Given the description of an element on the screen output the (x, y) to click on. 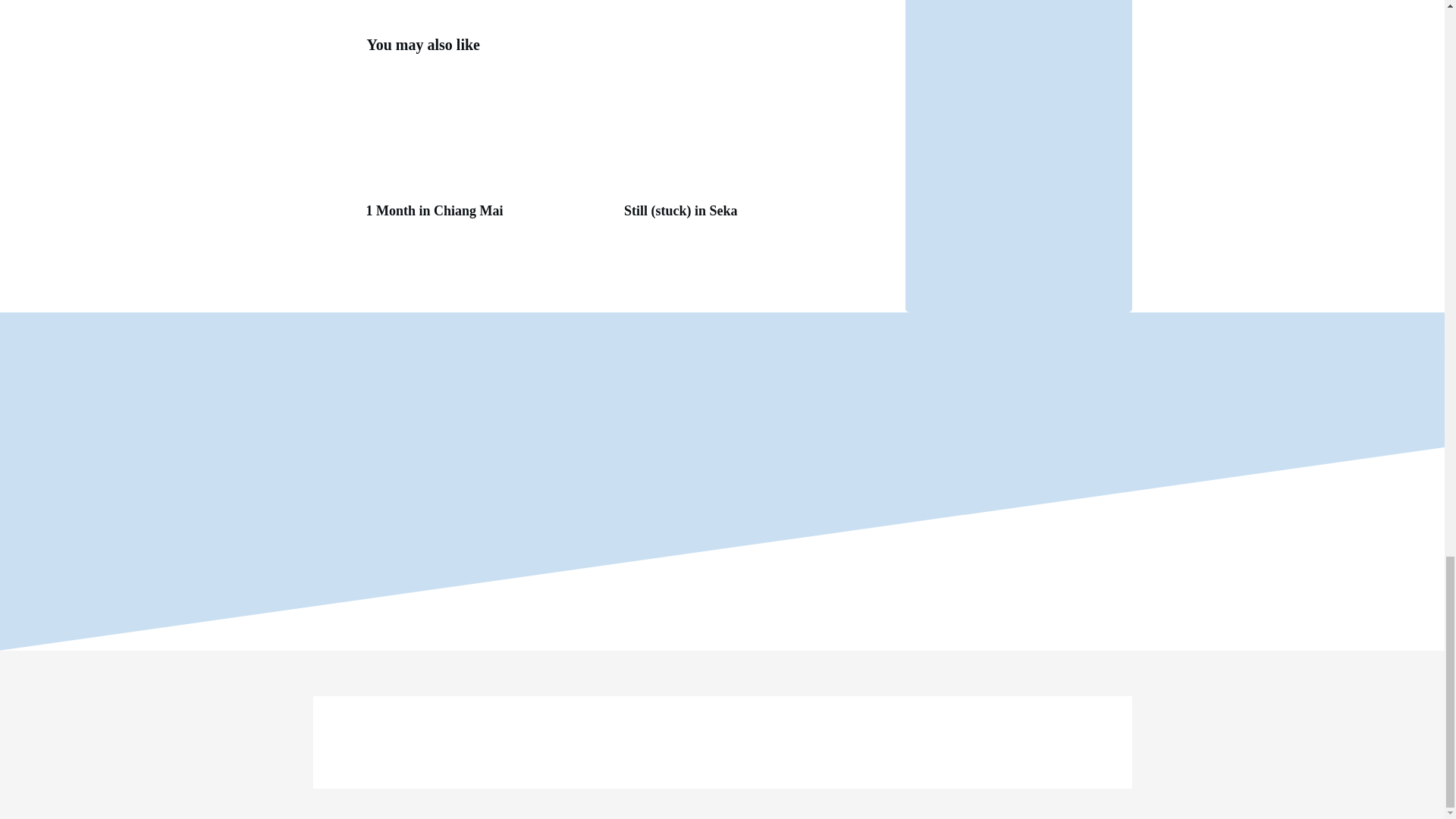
1 Month in Chiang Mai (433, 210)
1 Month in Chiang Mai (433, 210)
1 Month in Chiang Mai (486, 153)
